Given the description of an element on the screen output the (x, y) to click on. 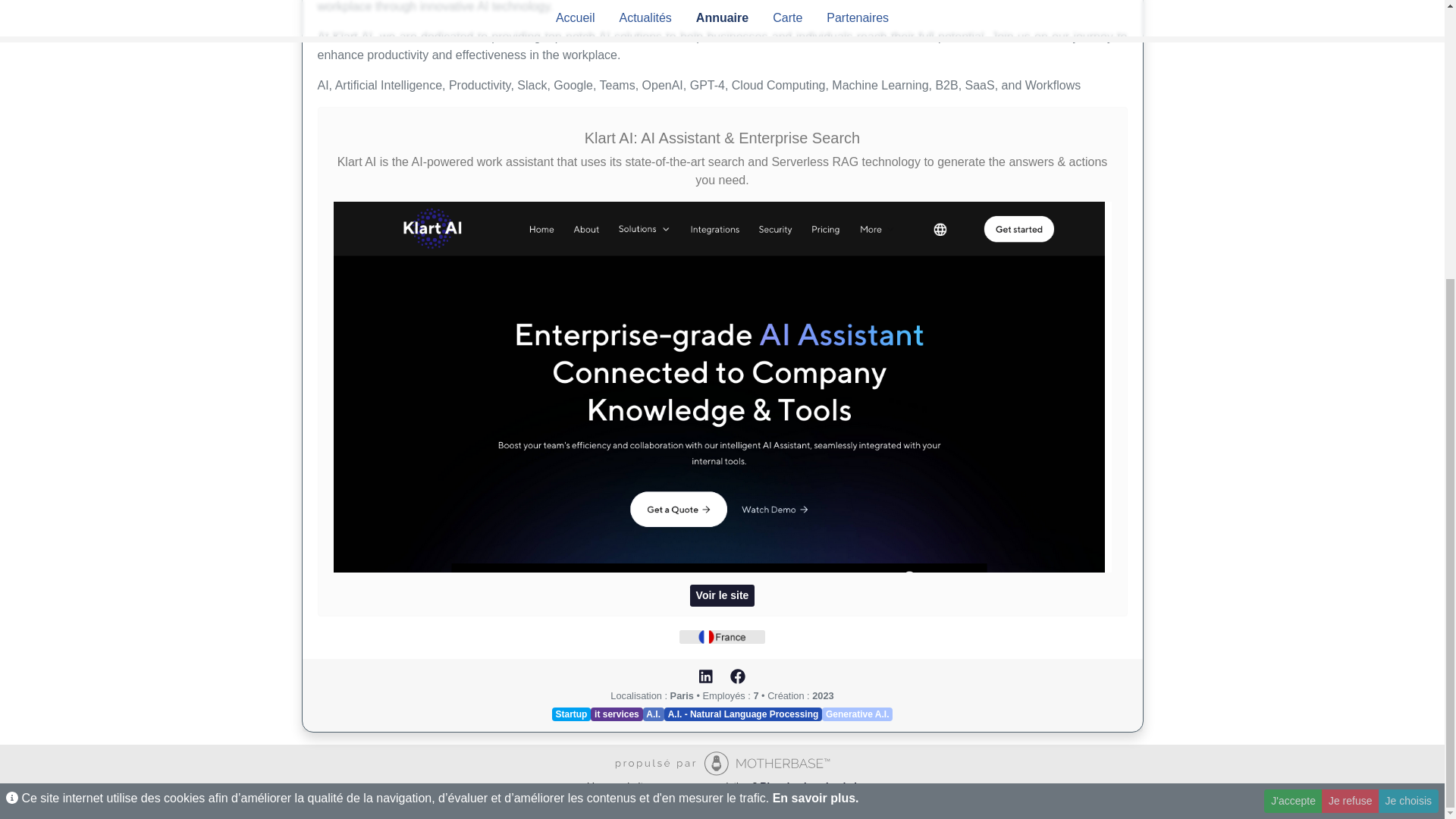
Je choisis (1408, 386)
Motherbase.ai (721, 764)
J'accepte (1292, 386)
A.I. - Natural Language Processing (742, 714)
Startup (571, 714)
Rien de plus simple ! (808, 785)
Je refuse (1350, 386)
Generative A.I. (857, 714)
it services (616, 714)
A.I. (653, 714)
